Given the description of an element on the screen output the (x, y) to click on. 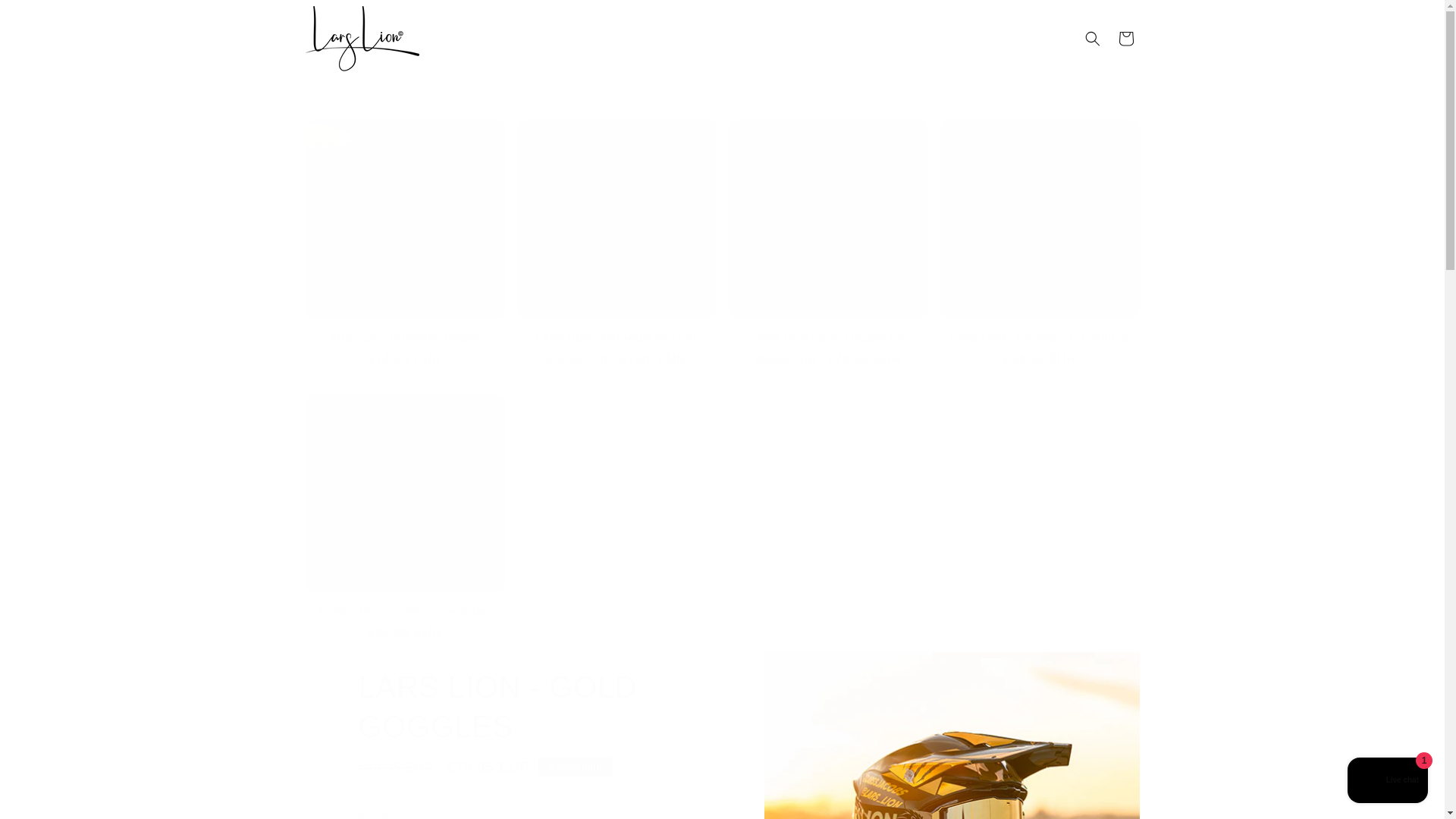
LARS LION - OVERSIZED HOODIE (403, 612)
webshop-chat van Shopify (1387, 781)
LARS LION - OVERSIZED T-SHIRTS (1040, 338)
LARS LION - PREMIUM KEYTAG (616, 338)
Meteen naar de content (45, 17)
Winkelwagen (1124, 38)
Media 1 openen in modaal (952, 735)
LARS LION - ORIGINAL HOODIE (403, 338)
LARS LION - GOLD GOGGLES (827, 338)
